Given the description of an element on the screen output the (x, y) to click on. 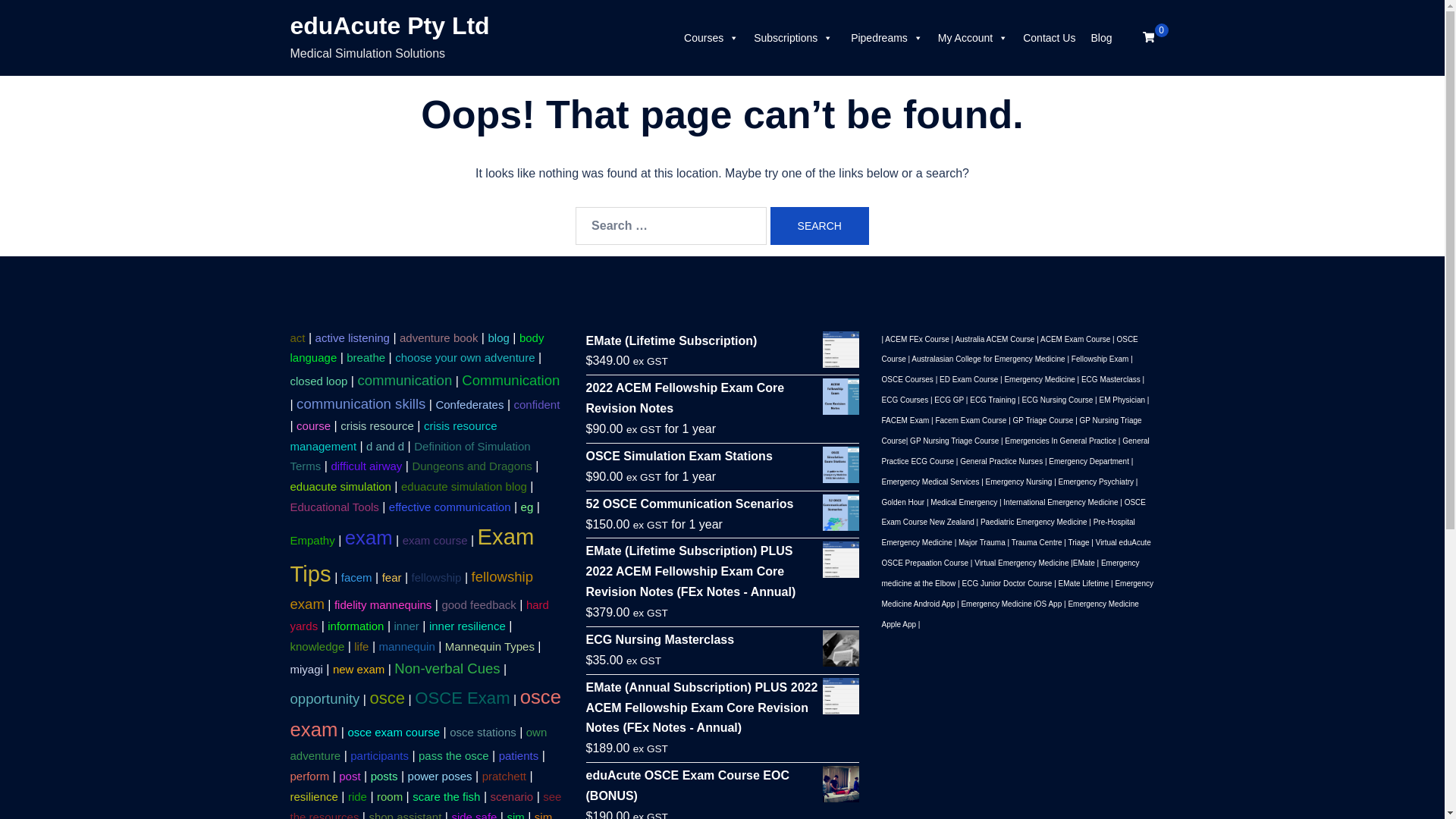
Subscriptions Element type: text (793, 37)
OSCE Simulation Exam Stations Element type: text (721, 456)
Contact Us Element type: text (1048, 37)
eduAcute OSCE Exam Course EOC (BONUS) Element type: text (721, 785)
0 Element type: text (1148, 37)
Blog Element type: text (1100, 37)
ECG Nursing Masterclass Element type: text (721, 640)
eduAcute Pty Ltd Element type: text (389, 25)
 Pipedreams Element type: text (885, 37)
Courses Element type: text (711, 37)
My Account Element type: text (972, 37)
52 OSCE Communication Scenarios Element type: text (721, 504)
2022 ACEM Fellowship Exam Core Revision Notes Element type: text (721, 398)
Search Element type: text (819, 225)
EMate (Lifetime Subscription) Element type: text (721, 341)
